Given the description of an element on the screen output the (x, y) to click on. 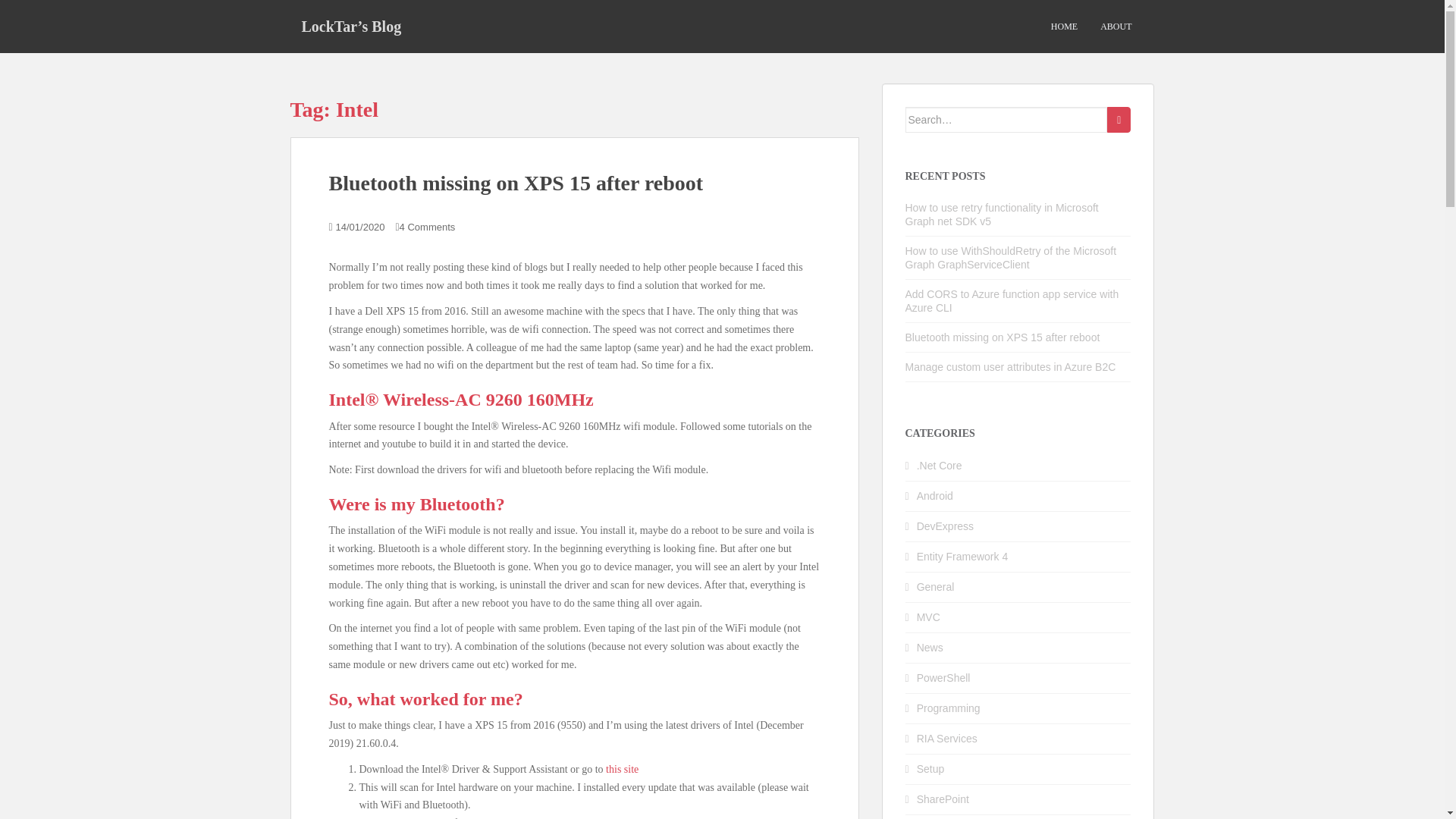
Bluetooth missing on XPS 15 after reboot (516, 182)
RIA Services (946, 738)
.Net Core (939, 465)
How to use retry functionality in Microsoft Graph net SDK v5 (1002, 214)
Search (1118, 119)
DevExpress (945, 526)
SharePoint (943, 799)
Add CORS to Azure function app service with Azure CLI (1012, 300)
General (936, 586)
Bluetooth missing on XPS 15 after reboot (1002, 337)
